Given the description of an element on the screen output the (x, y) to click on. 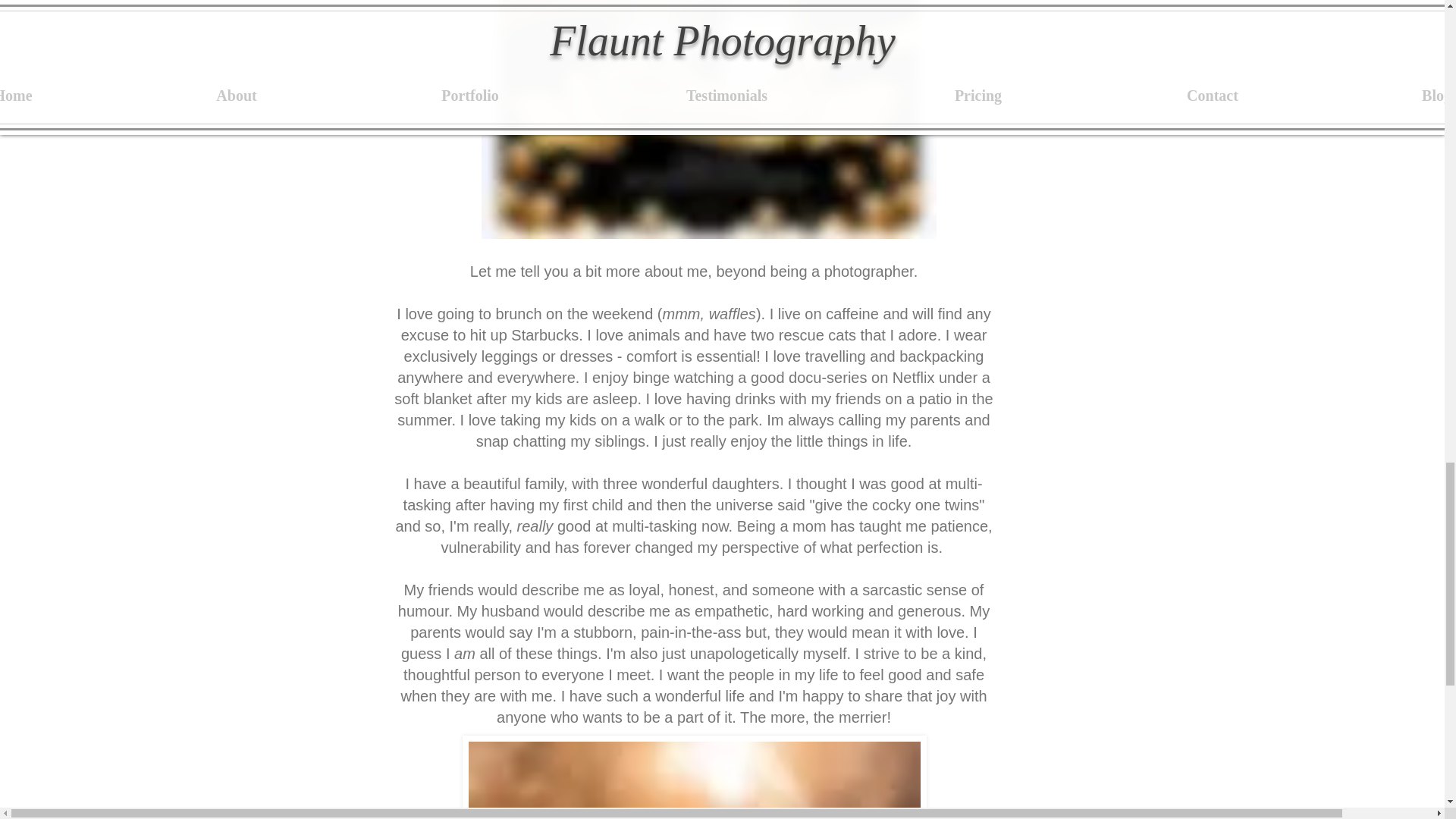
1000011097.jpg (708, 119)
